Given the description of an element on the screen output the (x, y) to click on. 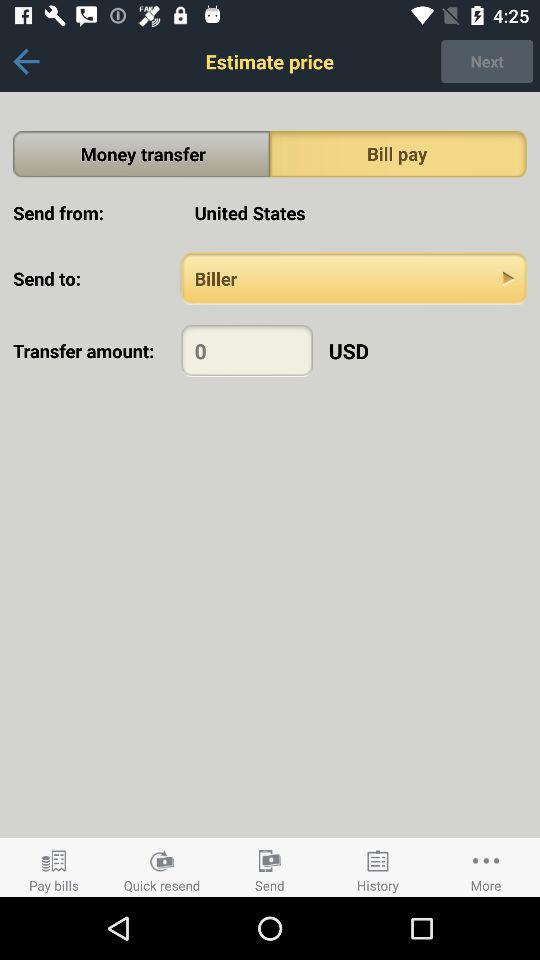
swipe to the next (487, 61)
